Given the description of an element on the screen output the (x, y) to click on. 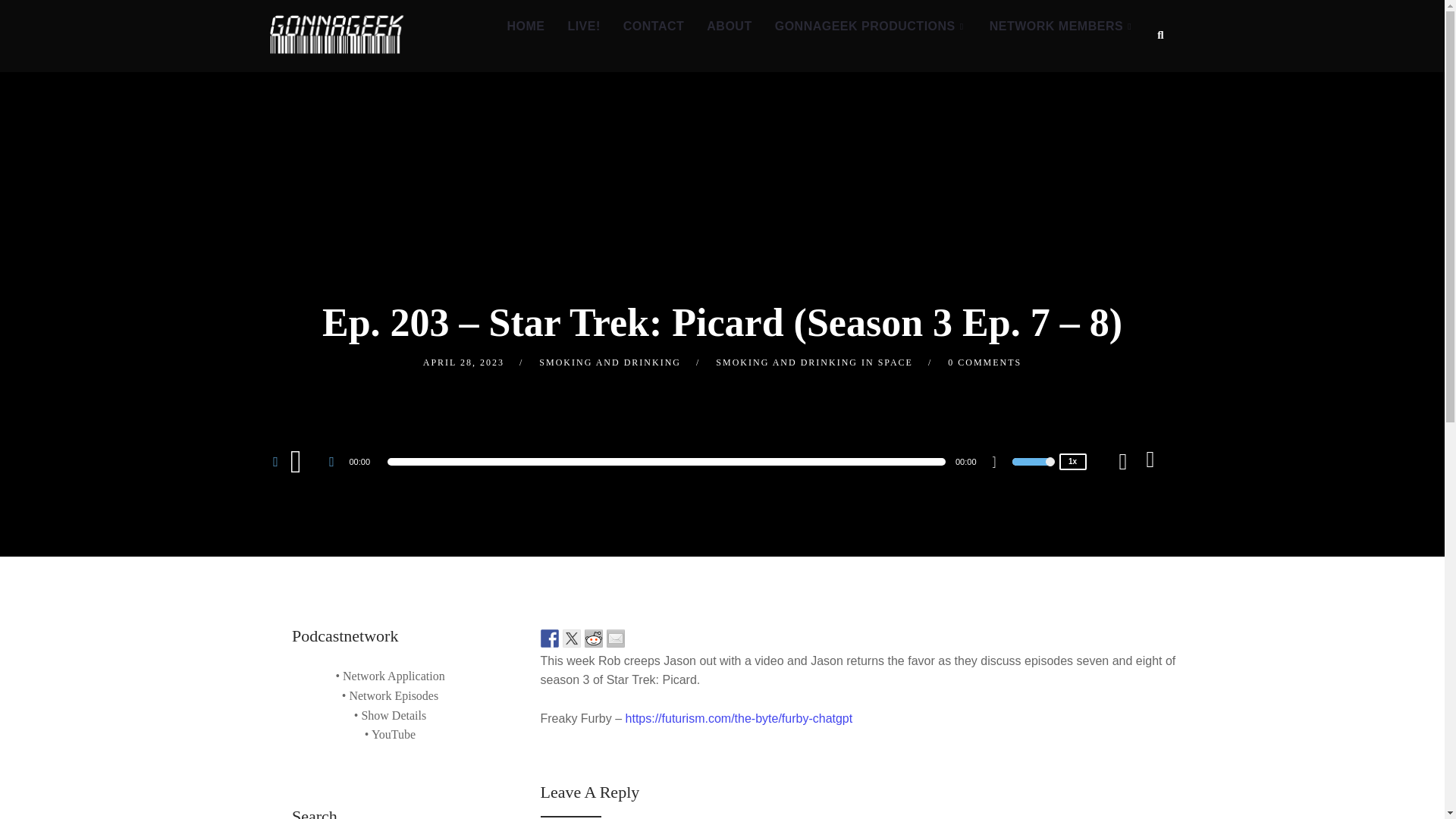
Share on Twitter (571, 638)
Speed Rate (1072, 461)
Mute (999, 463)
Share on Reddit (592, 638)
CONTACT (653, 26)
LIVE! (583, 26)
Share by email (615, 638)
NETWORK MEMBERS (1061, 26)
Play (304, 460)
Submit (29, 20)
Share on Facebook (548, 638)
GONNAGEEK PRODUCTIONS (870, 26)
HOME (525, 26)
ABOUT (728, 26)
